Given the description of an element on the screen output the (x, y) to click on. 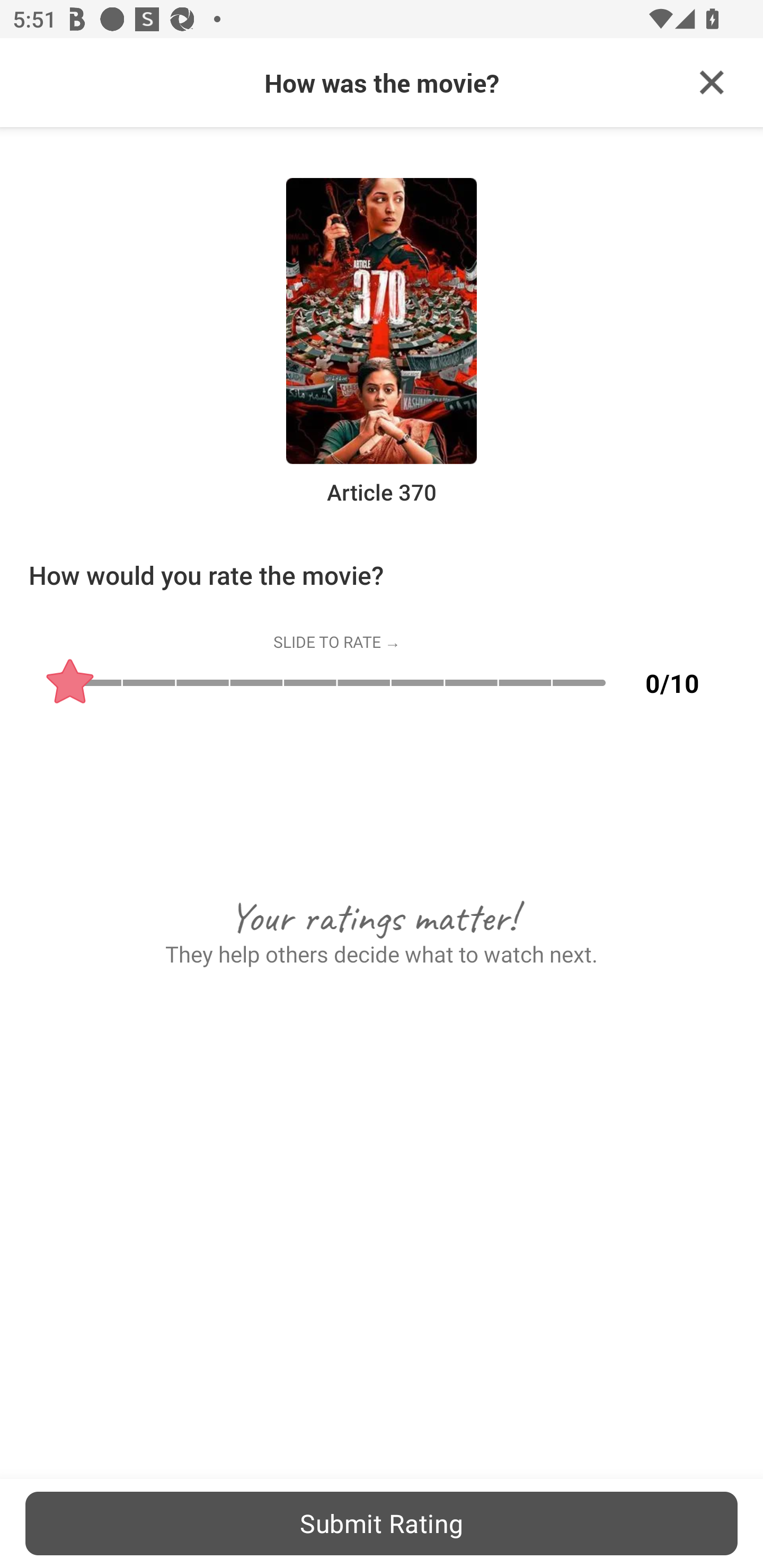
Close (711, 82)
Submit Rating (381, 1523)
